Given the description of an element on the screen output the (x, y) to click on. 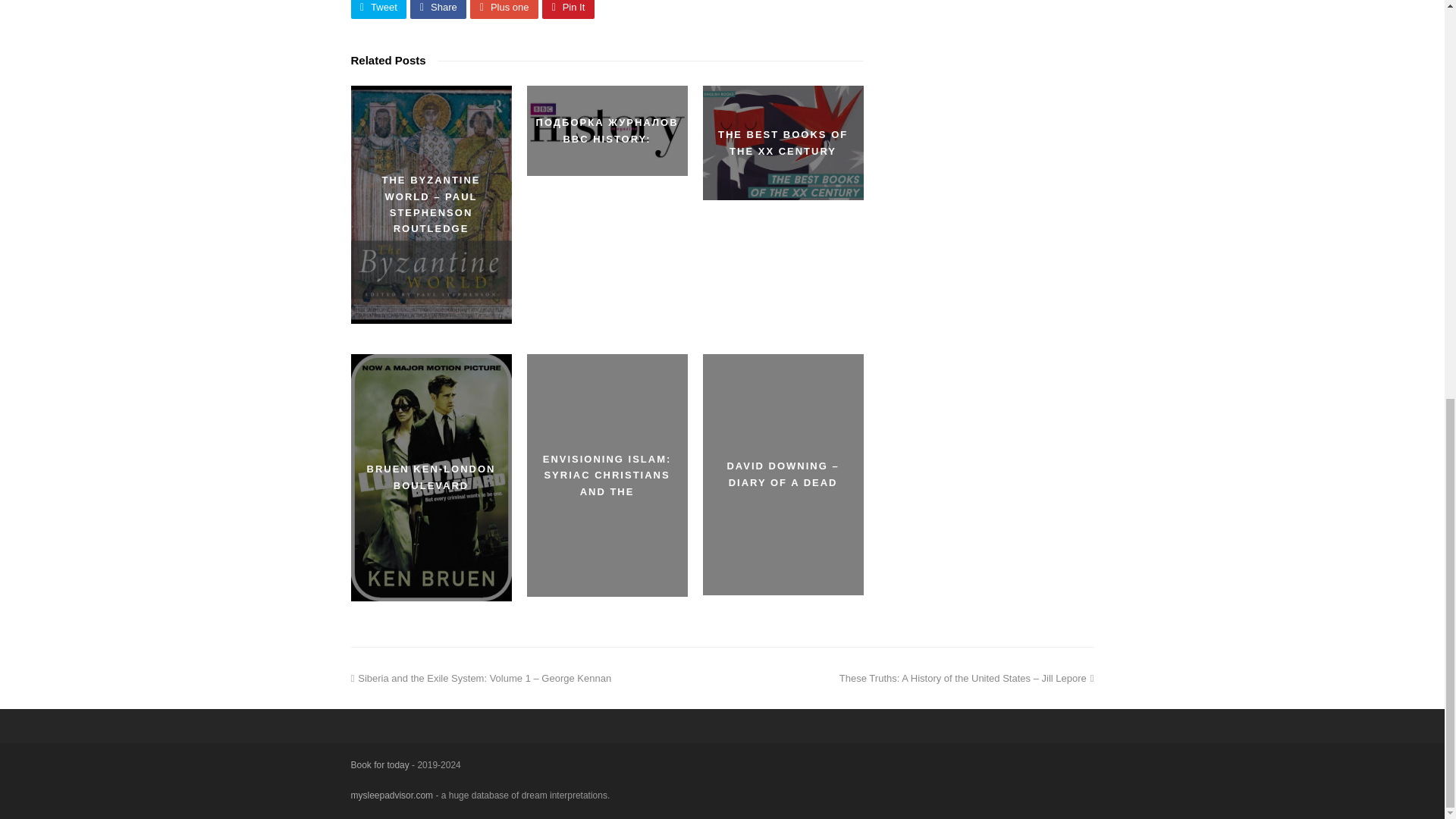
mysleepadvisor.com (391, 795)
Share on Pinterest (567, 9)
The best books of the XX century (783, 142)
THE BEST BOOKS OF THE XX CENTURY (783, 142)
Pin It (567, 9)
Bruen Ken-London Boulevard (430, 477)
Share on Facebook (437, 9)
Plus one (504, 9)
ENVISIONING ISLAM: SYRIAC CHRISTIANS AND THE (607, 475)
Book for today (379, 765)
Envisioning Islam: Syriac Christians and the (607, 475)
Share on Twitter (378, 9)
Share (437, 9)
BRUEN KEN-LONDON BOULEVARD (430, 477)
Tweet (378, 9)
